Given the description of an element on the screen output the (x, y) to click on. 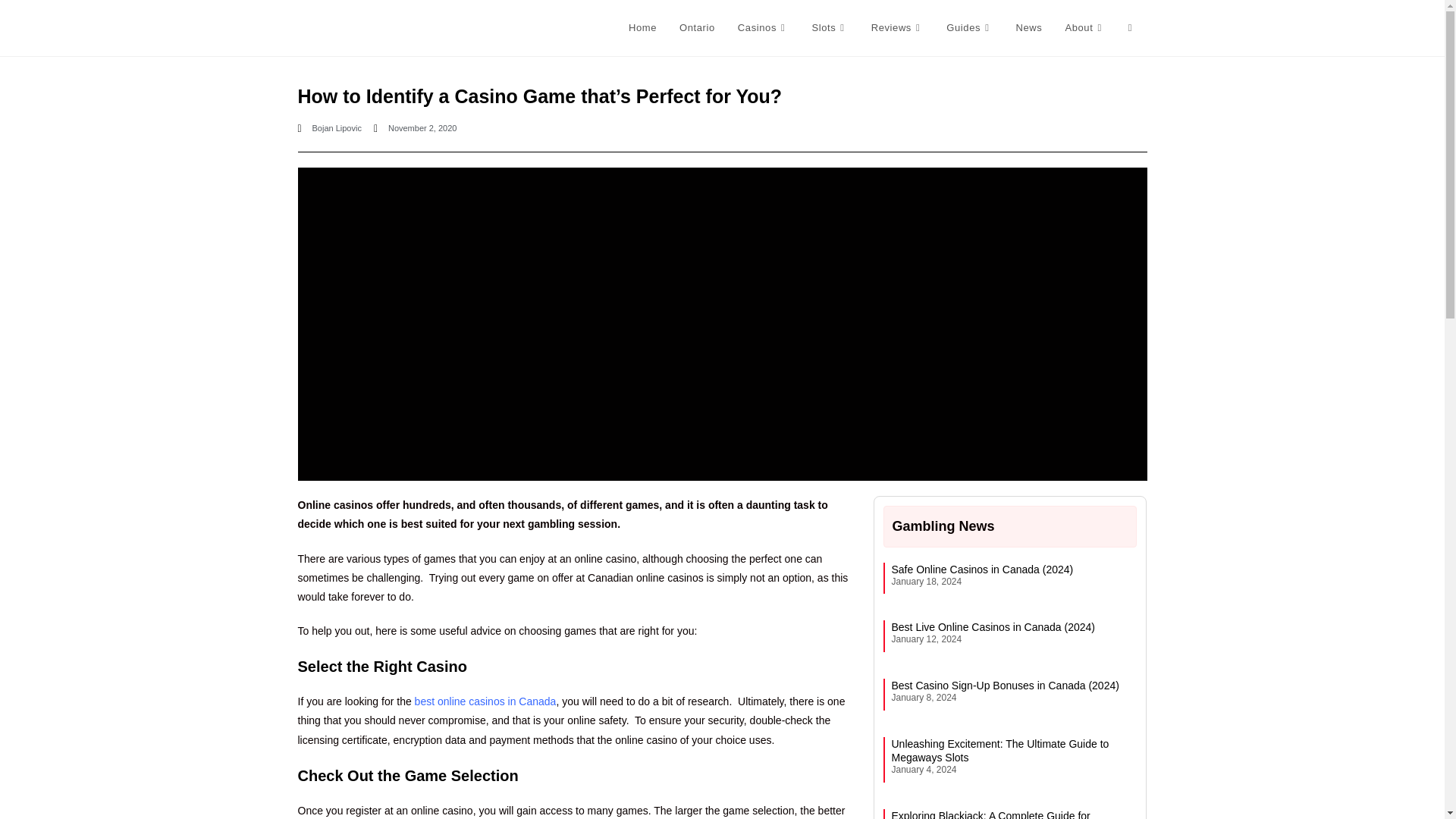
Slots (829, 28)
Home (642, 28)
Casinos (763, 28)
About (1084, 28)
Reviews (898, 28)
Guides (969, 28)
Ontario (697, 28)
